Given the description of an element on the screen output the (x, y) to click on. 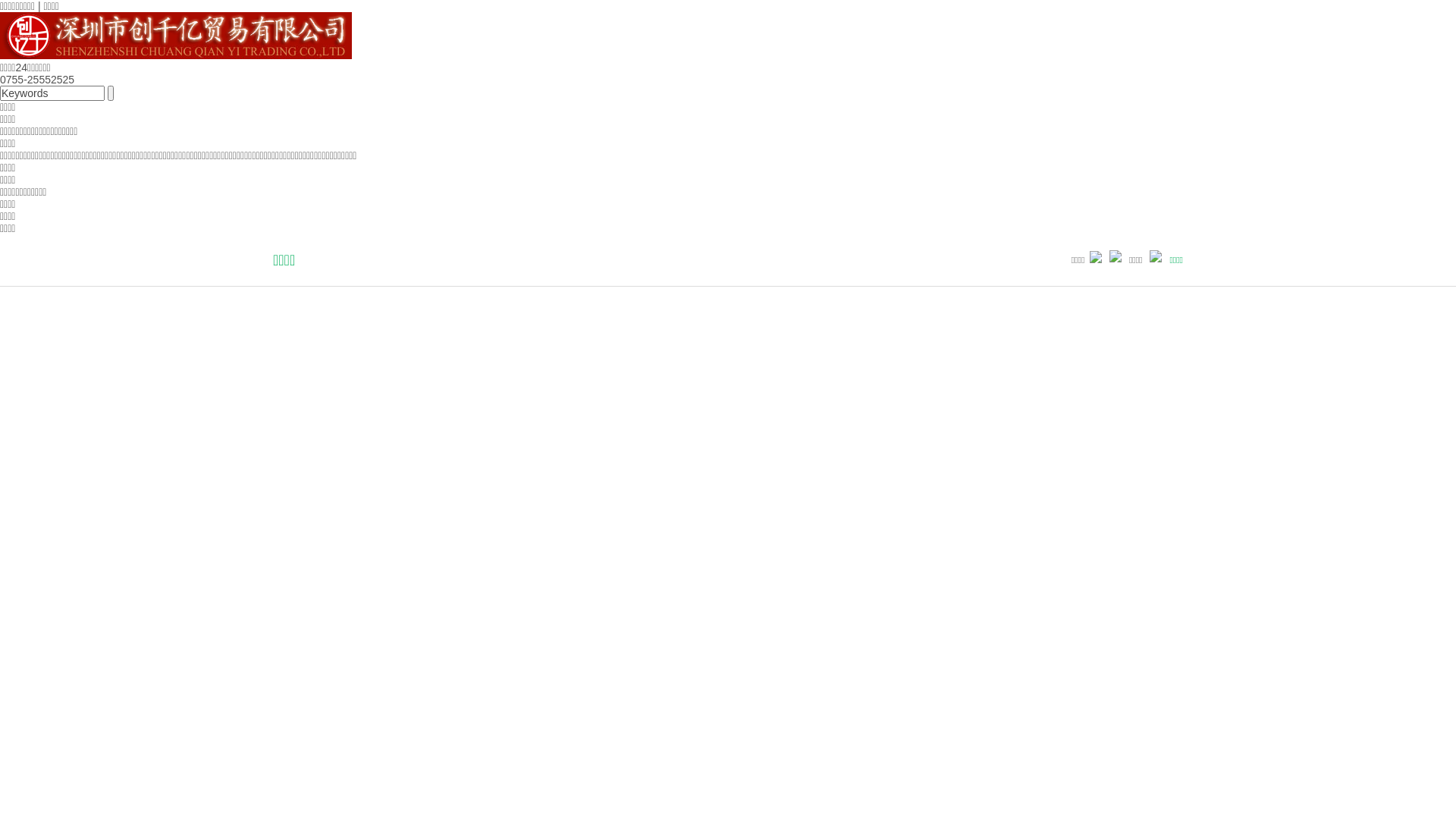
  Element type: text (110, 92)
